Given the description of an element on the screen output the (x, y) to click on. 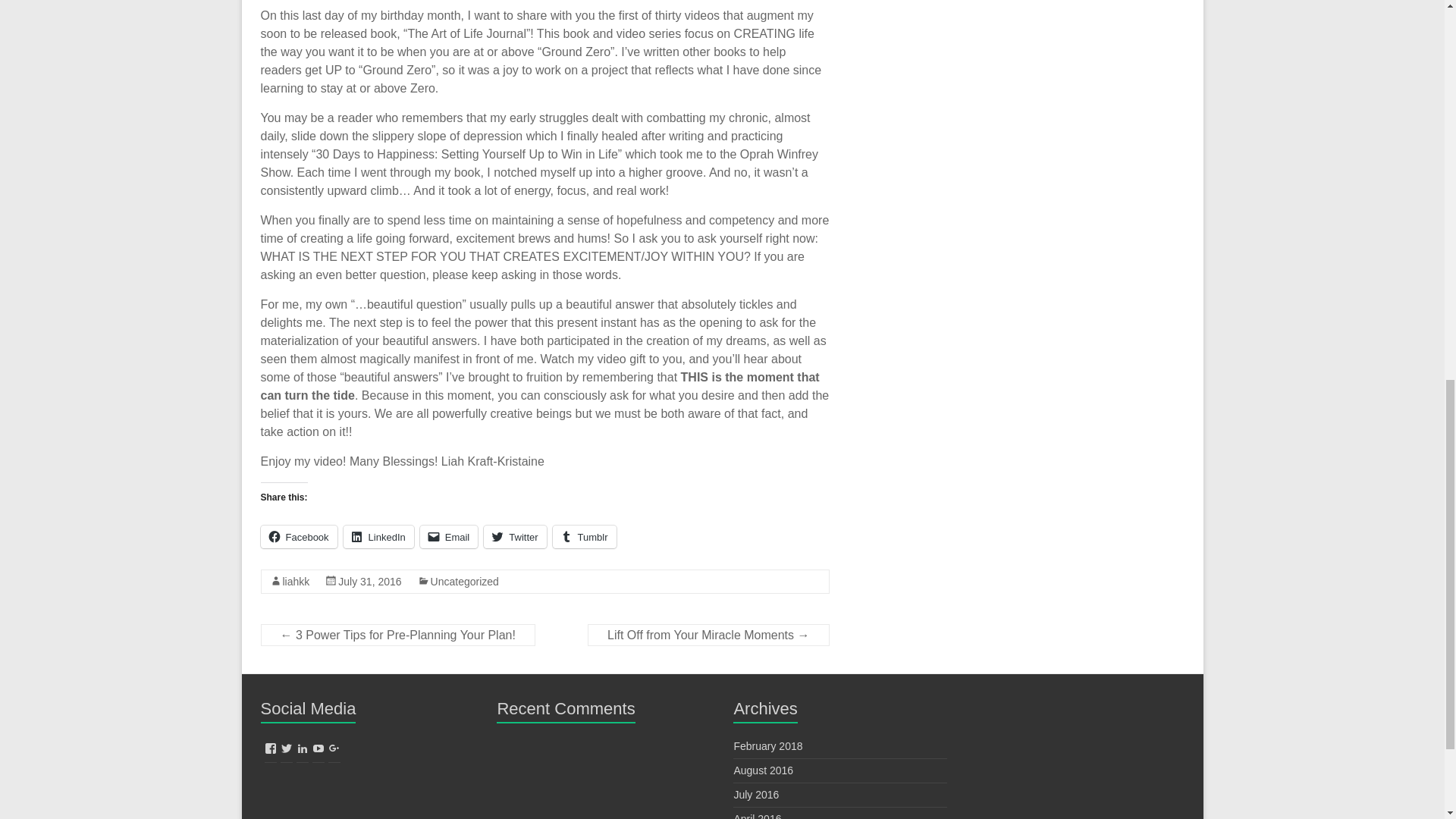
Facebook (298, 536)
Click to share on Tumblr (584, 536)
8:47 pm (369, 581)
Click to share on Facebook (298, 536)
Tumblr (584, 536)
Click to share on LinkedIn (378, 536)
Click to share on Twitter (514, 536)
July 31, 2016 (369, 581)
LinkedIn (378, 536)
Uncategorized (464, 581)
